Given the description of an element on the screen output the (x, y) to click on. 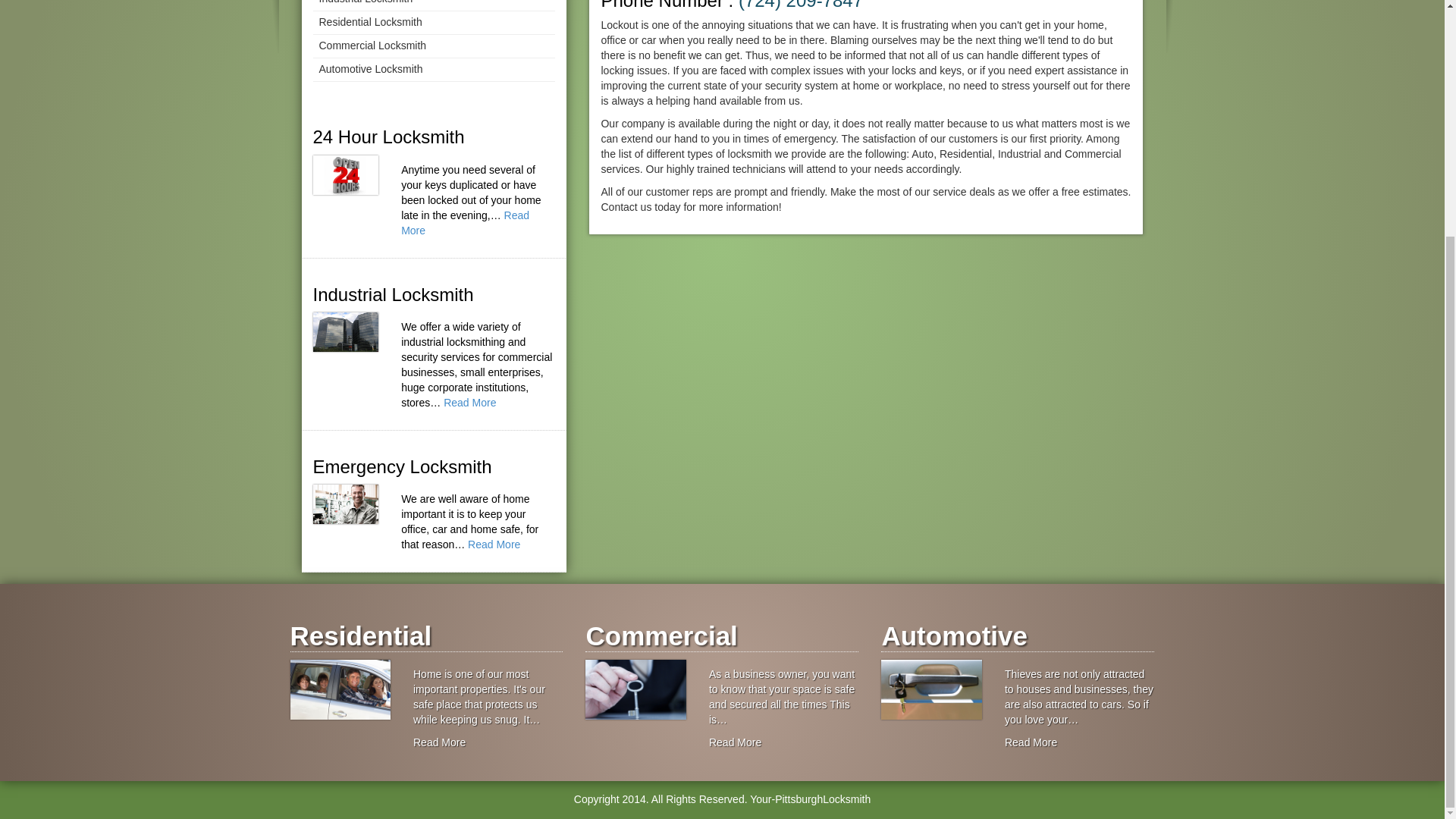
Automotive (1017, 636)
Residential (425, 636)
Read More (493, 544)
Read More (470, 402)
Read More (439, 742)
Read More (1030, 742)
Commercial Locksmith (433, 46)
Residential Locksmith (433, 23)
Read More (735, 742)
Automotive Locksmith (433, 69)
